Given the description of an element on the screen output the (x, y) to click on. 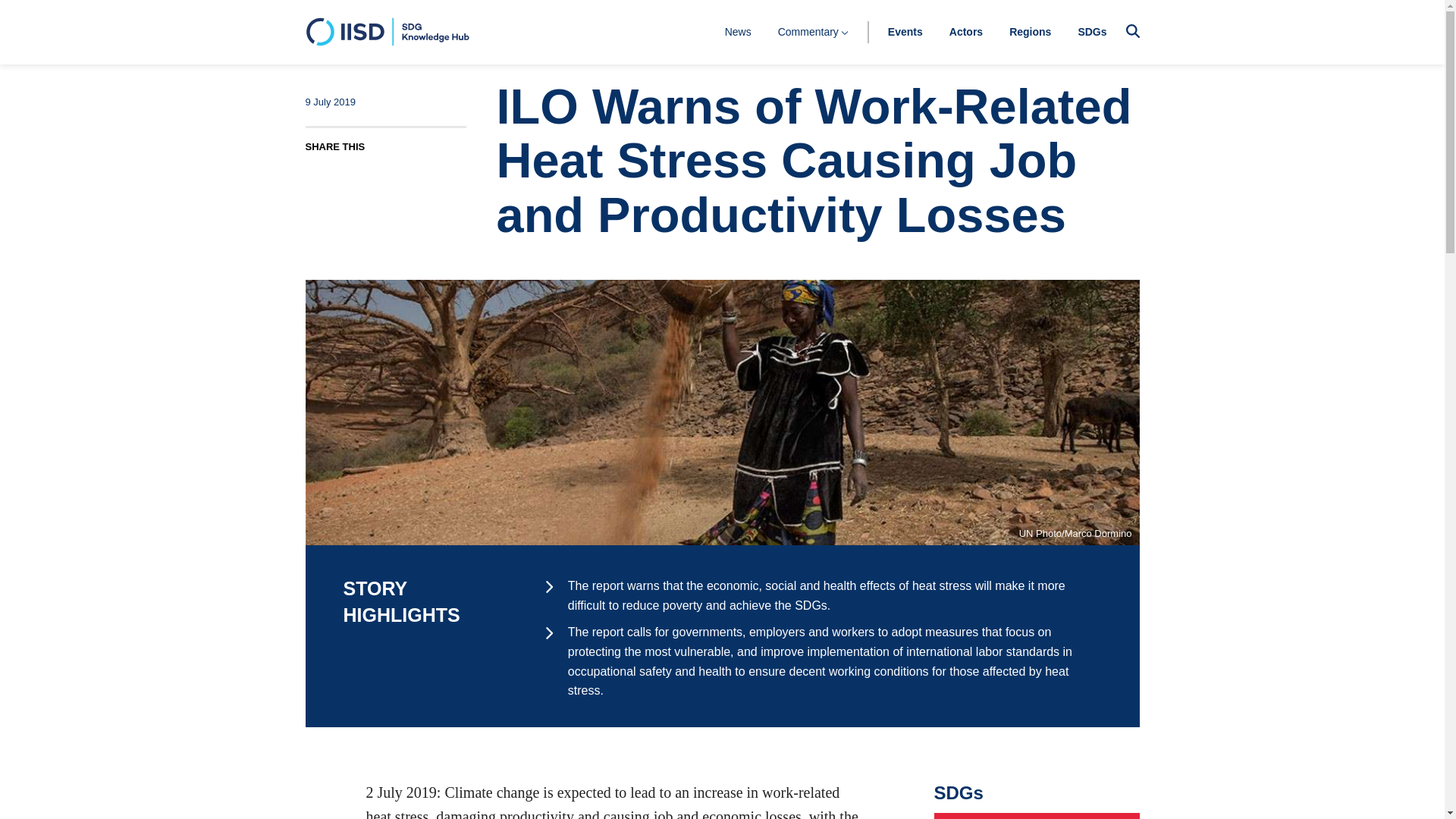
Regions (1030, 31)
News (738, 31)
Goal 1 - No Poverty (1037, 816)
Events (905, 31)
Commentary (812, 31)
Actors (965, 31)
SDGs (1091, 31)
